Given the description of an element on the screen output the (x, y) to click on. 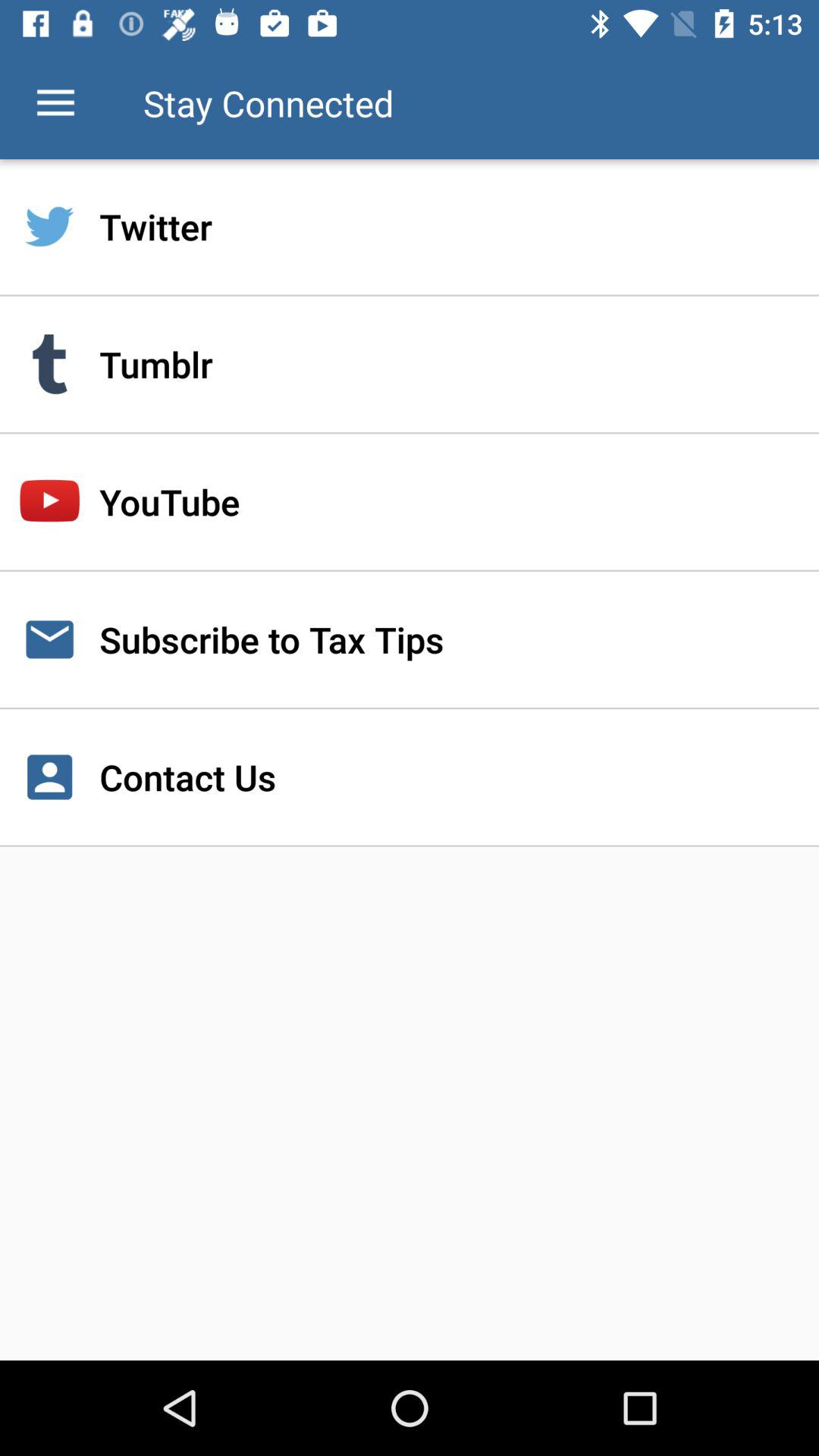
press the item next to stay connected icon (55, 103)
